Given the description of an element on the screen output the (x, y) to click on. 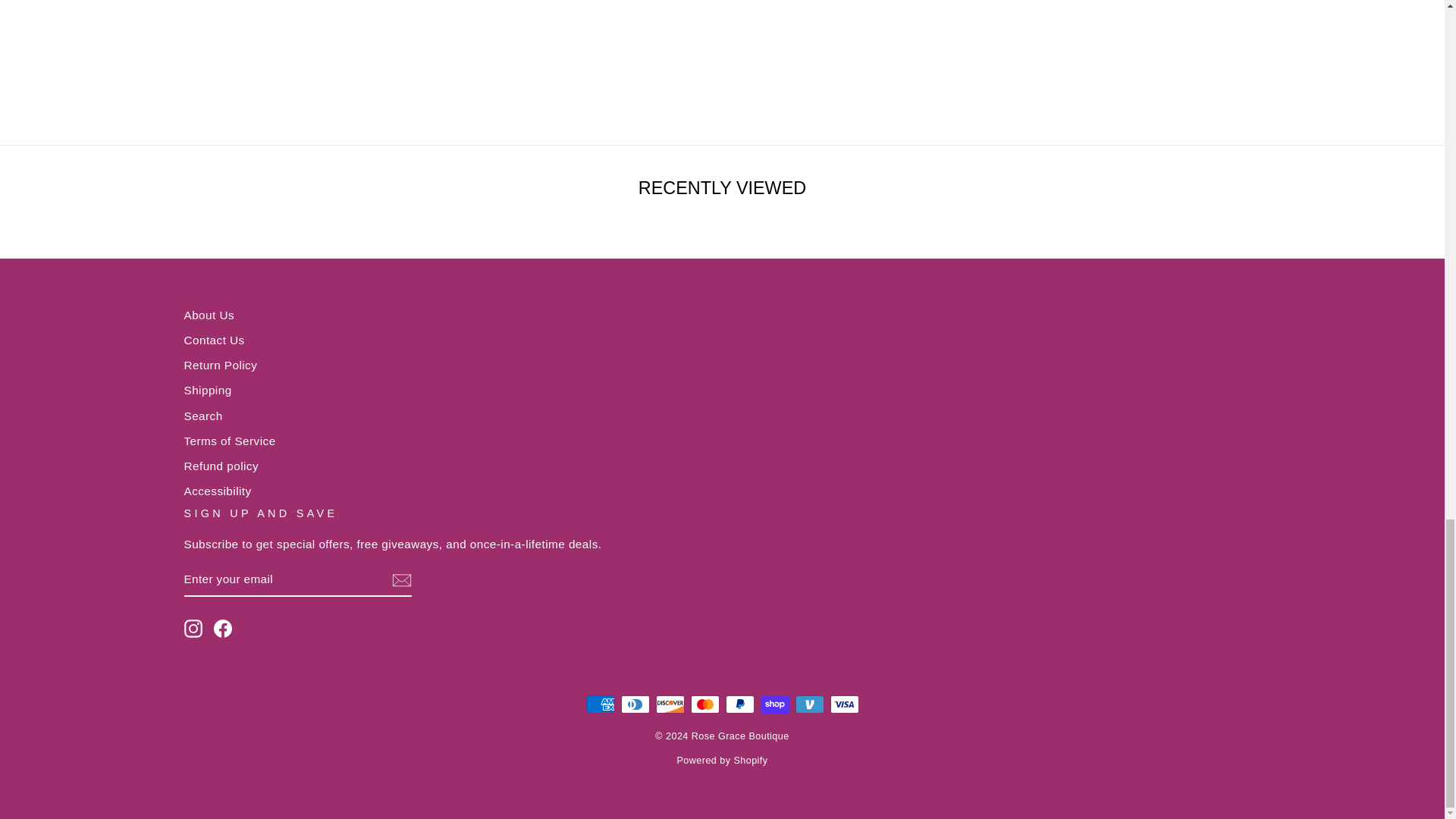
Rose Grace Boutique on Instagram (192, 628)
Rose Grace Boutique on Facebook (222, 628)
American Express (599, 704)
Venmo (809, 704)
Visa (844, 704)
PayPal (739, 704)
Mastercard (704, 704)
Shop Pay (774, 704)
Discover (669, 704)
Diners Club (634, 704)
